Given the description of an element on the screen output the (x, y) to click on. 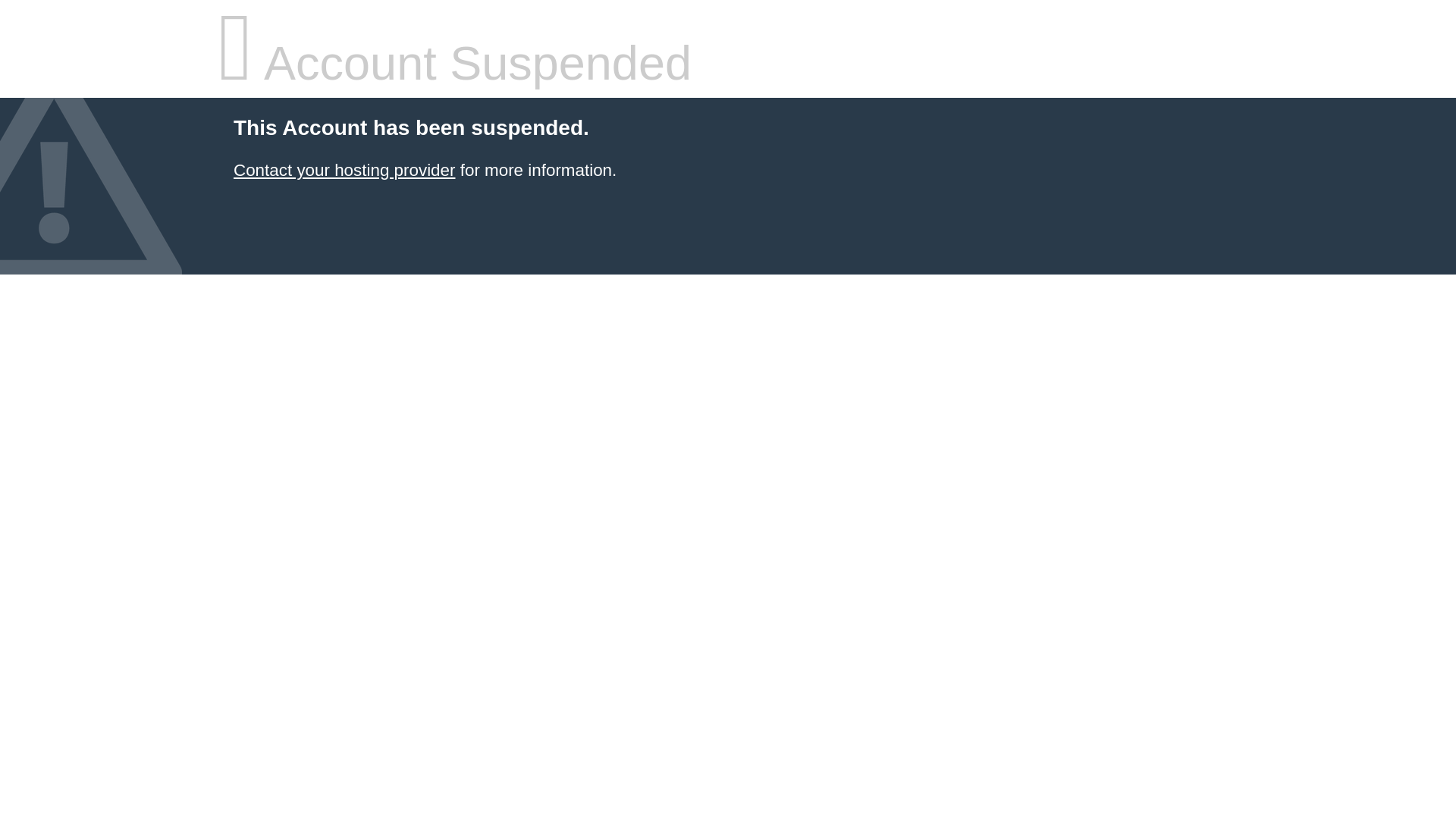
Contact your hosting provider (343, 169)
